Given the description of an element on the screen output the (x, y) to click on. 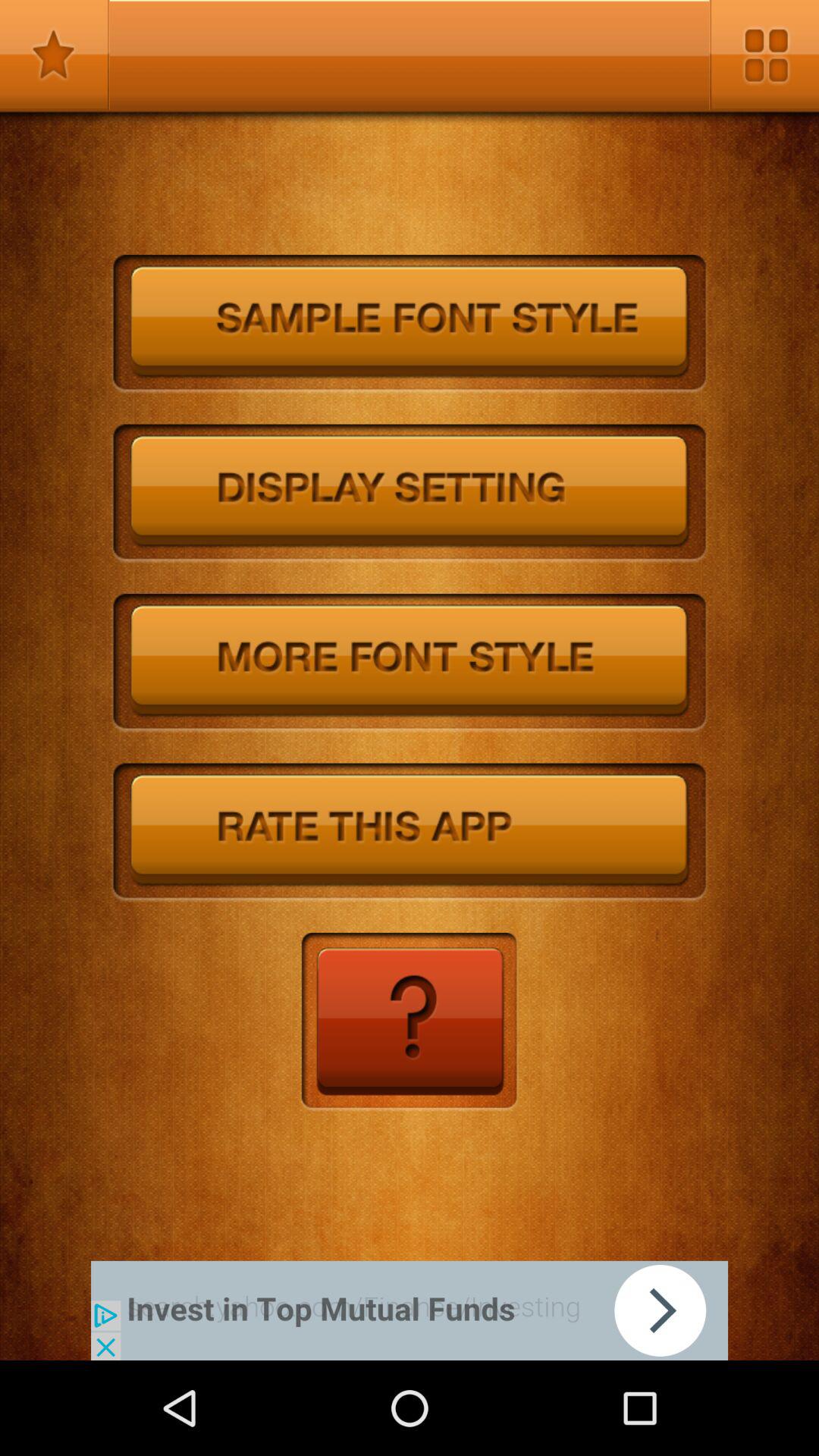
more styles (409, 663)
